Given the description of an element on the screen output the (x, y) to click on. 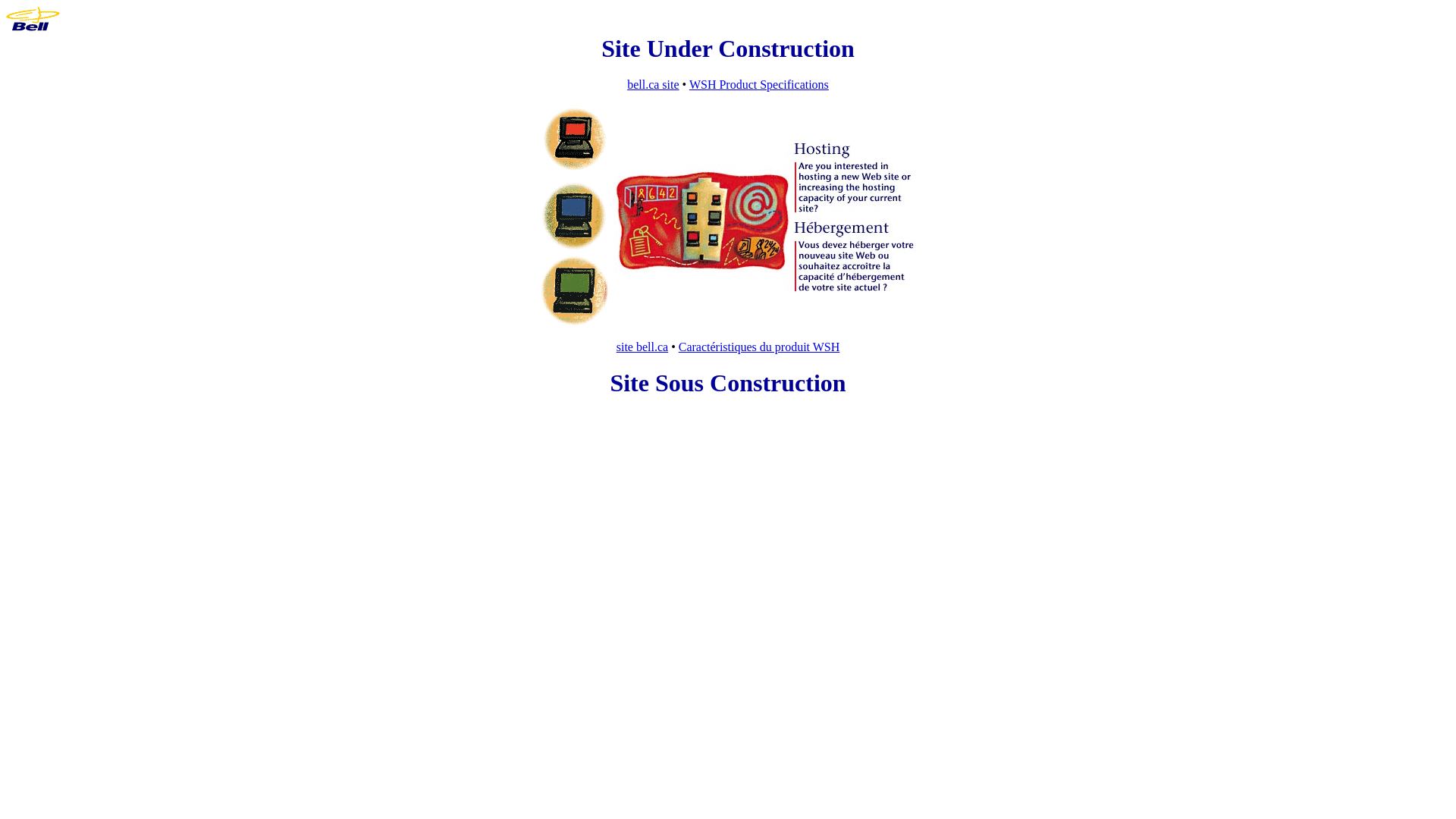
site bell.ca Element type: text (642, 346)
WSH Product Specifications Element type: text (758, 84)
bell.ca site Element type: text (652, 84)
